Given the description of an element on the screen output the (x, y) to click on. 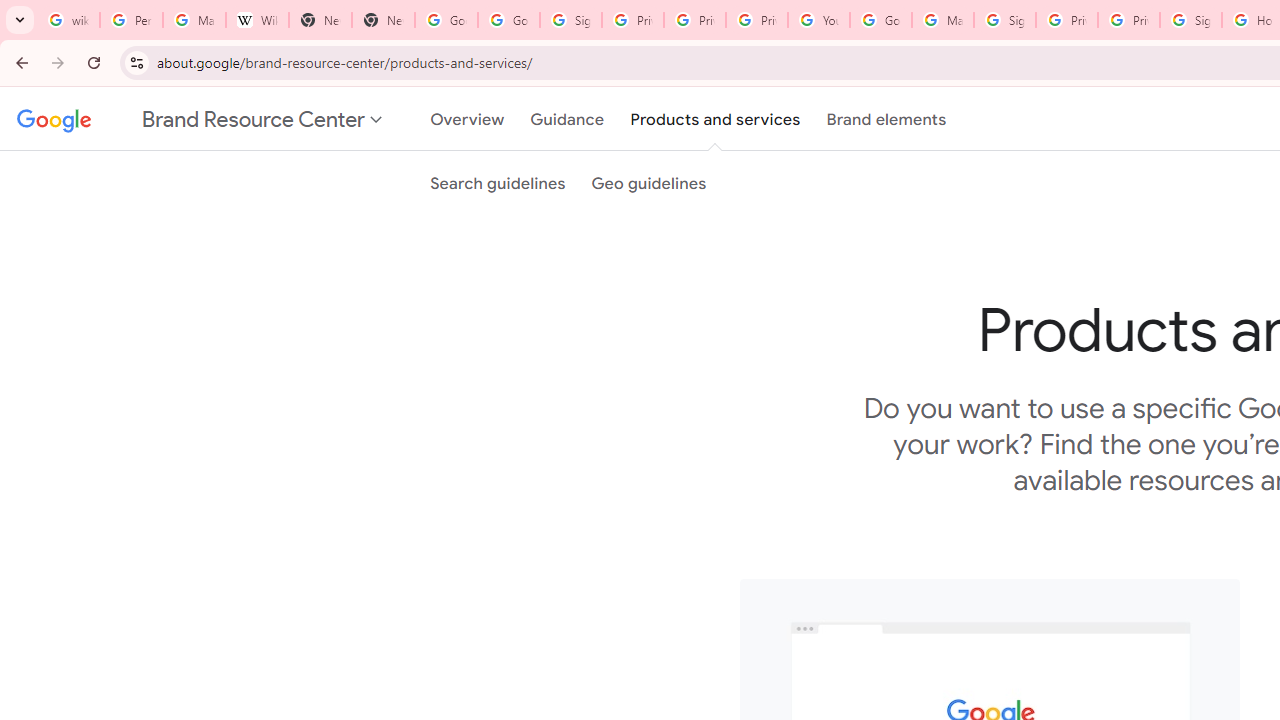
Sign in - Google Accounts (1190, 20)
YouTube (818, 20)
Sign in - Google Accounts (570, 20)
Brand elements (886, 119)
